Given the description of an element on the screen output the (x, y) to click on. 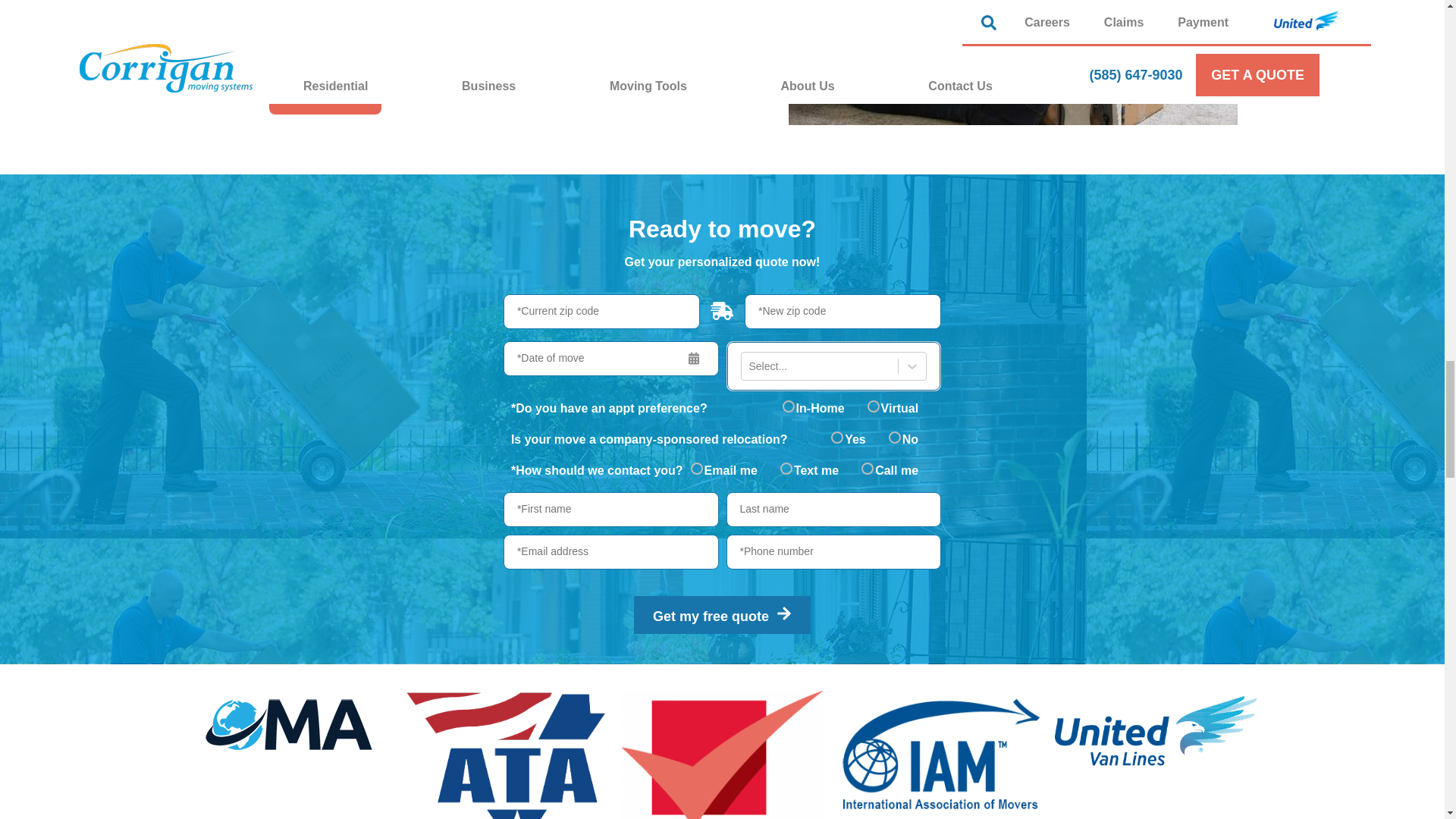
Email me (696, 468)
Yes (837, 437)
No (894, 437)
In-Home (788, 406)
Virtual (873, 406)
Text me (786, 468)
Call me (867, 468)
